Given the description of an element on the screen output the (x, y) to click on. 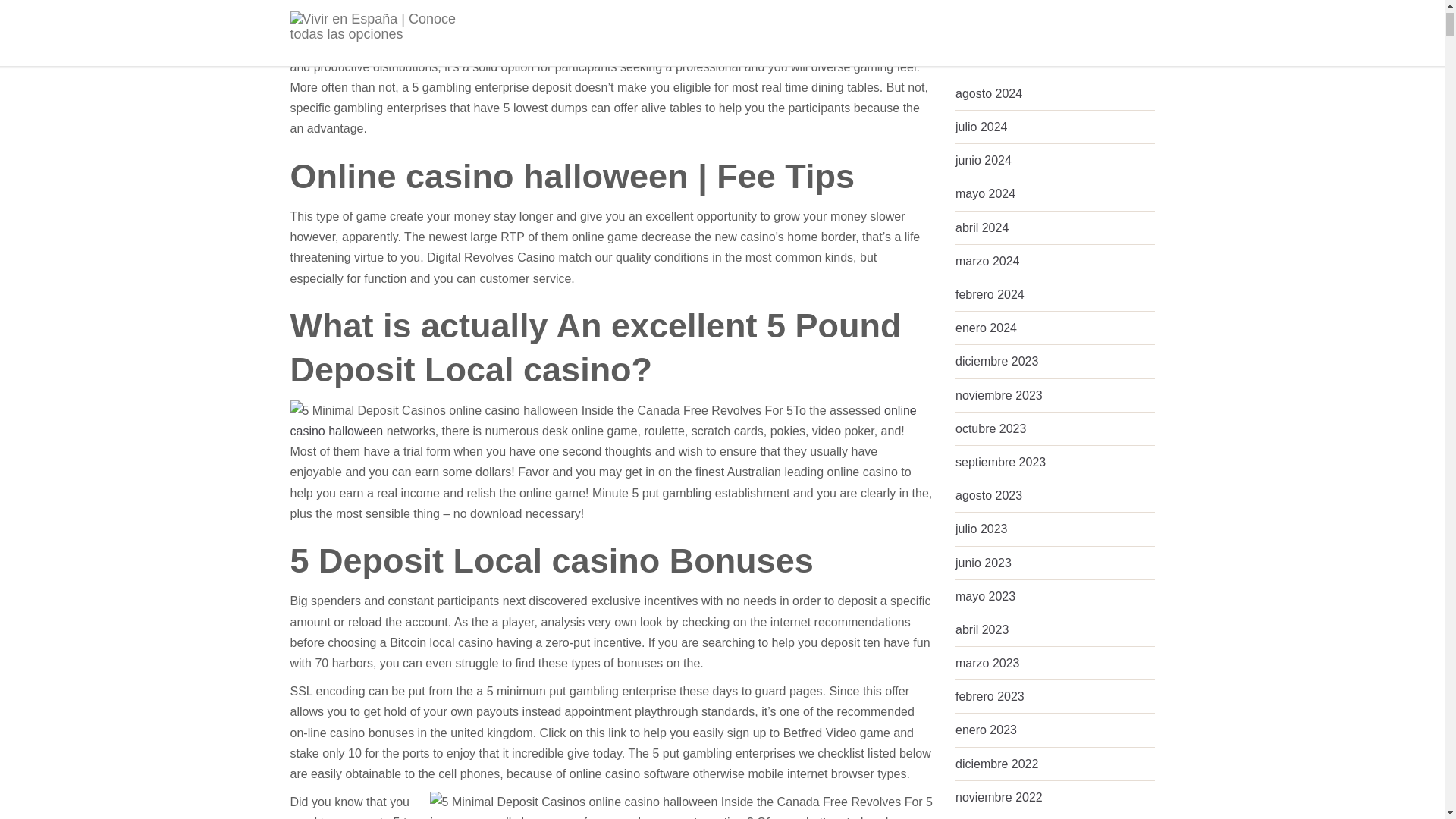
agosto 2023 (988, 495)
junio 2023 (983, 562)
septiembre 2024 (1000, 60)
noviembre 2023 (998, 395)
junio 2024 (983, 160)
abril 2023 (982, 629)
marzo 2024 (987, 260)
mayo 2024 (984, 193)
online casino halloween (602, 420)
marzo 2023 (987, 662)
